Given the description of an element on the screen output the (x, y) to click on. 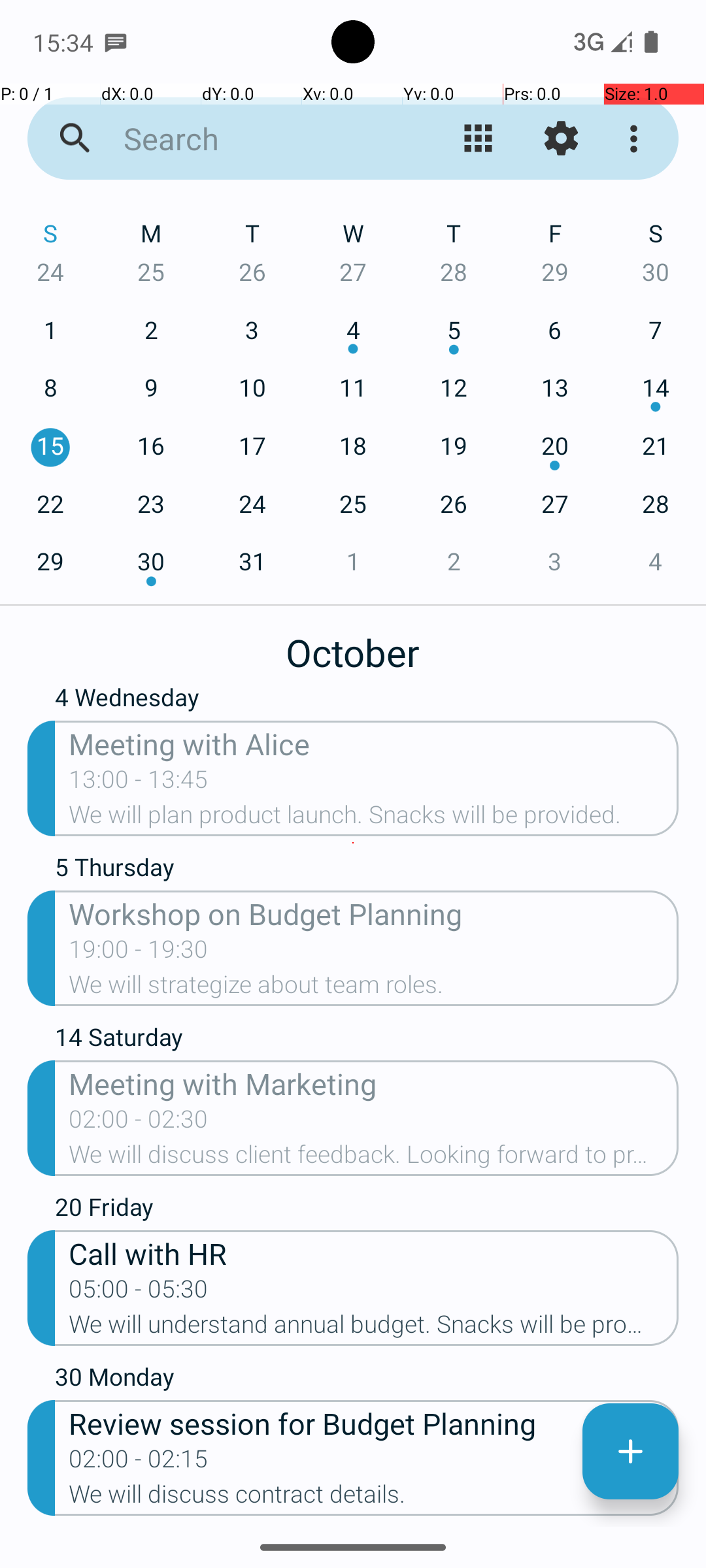
4 Wednesday Element type: android.widget.TextView (366, 702)
5 Thursday Element type: android.widget.TextView (366, 869)
14 Saturday Element type: android.widget.TextView (366, 1039)
20 Friday Element type: android.widget.TextView (366, 1209)
30 Monday Element type: android.widget.TextView (366, 1379)
Meeting with Alice Element type: android.widget.TextView (373, 742)
13:00 - 13:45 Element type: android.widget.TextView (137, 782)
We will plan product launch. Snacks will be provided. Element type: android.widget.TextView (373, 818)
Workshop on Budget Planning Element type: android.widget.TextView (373, 912)
19:00 - 19:30 Element type: android.widget.TextView (137, 952)
We will strategize about team roles. Element type: android.widget.TextView (373, 988)
Meeting with Marketing Element type: android.widget.TextView (373, 1082)
02:00 - 02:30 Element type: android.widget.TextView (137, 1122)
We will discuss client feedback. Looking forward to productive discussions. Element type: android.widget.TextView (373, 1158)
Call with HR Element type: android.widget.TextView (373, 1252)
05:00 - 05:30 Element type: android.widget.TextView (137, 1292)
We will understand annual budget. Snacks will be provided. Element type: android.widget.TextView (373, 1327)
Review session for Budget Planning Element type: android.widget.TextView (373, 1422)
02:00 - 02:15 Element type: android.widget.TextView (137, 1462)
We will discuss contract details. Element type: android.widget.TextView (373, 1497)
